Given the description of an element on the screen output the (x, y) to click on. 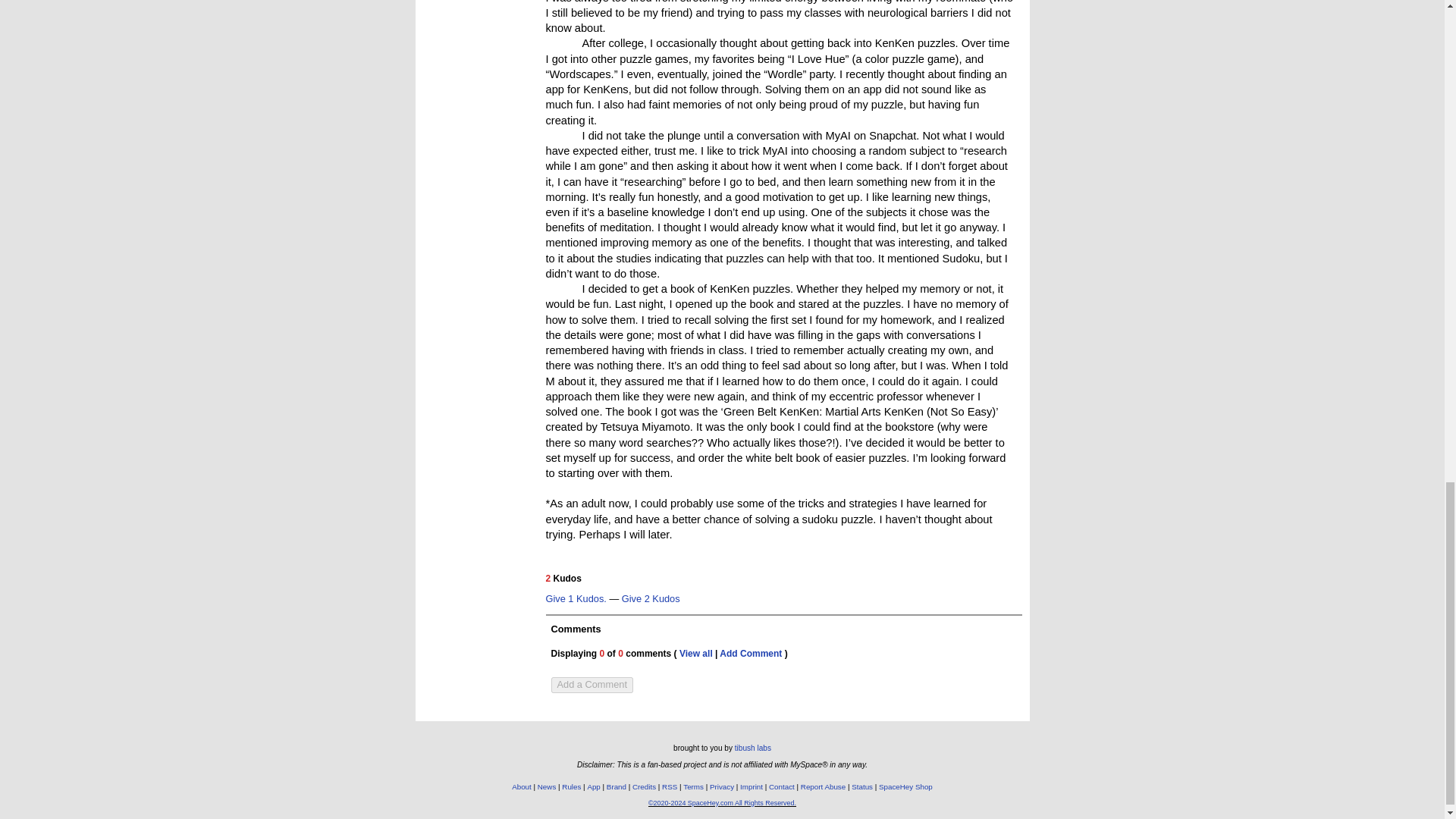
Rules (571, 786)
RSS (669, 786)
Brand (616, 786)
View all (696, 653)
About (521, 786)
Give 2 Kudos (650, 599)
App (592, 786)
Give 1 Kudos. (576, 599)
Credits (643, 786)
Add Comment (750, 653)
